Given the description of an element on the screen output the (x, y) to click on. 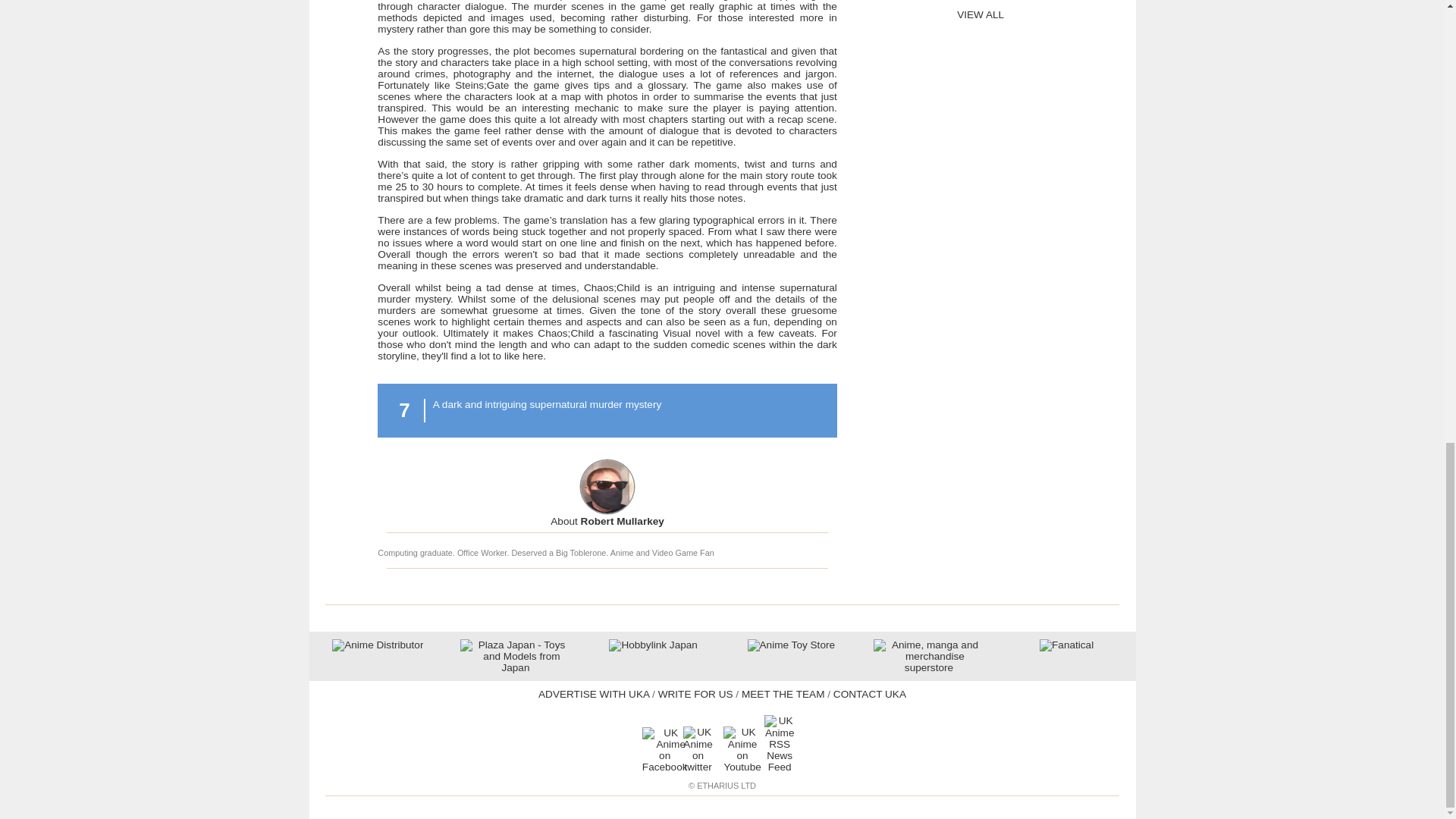
Robert Mullarkey (606, 521)
VIEW ALL (980, 14)
About Robert Mullarkey (606, 521)
